Given the description of an element on the screen output the (x, y) to click on. 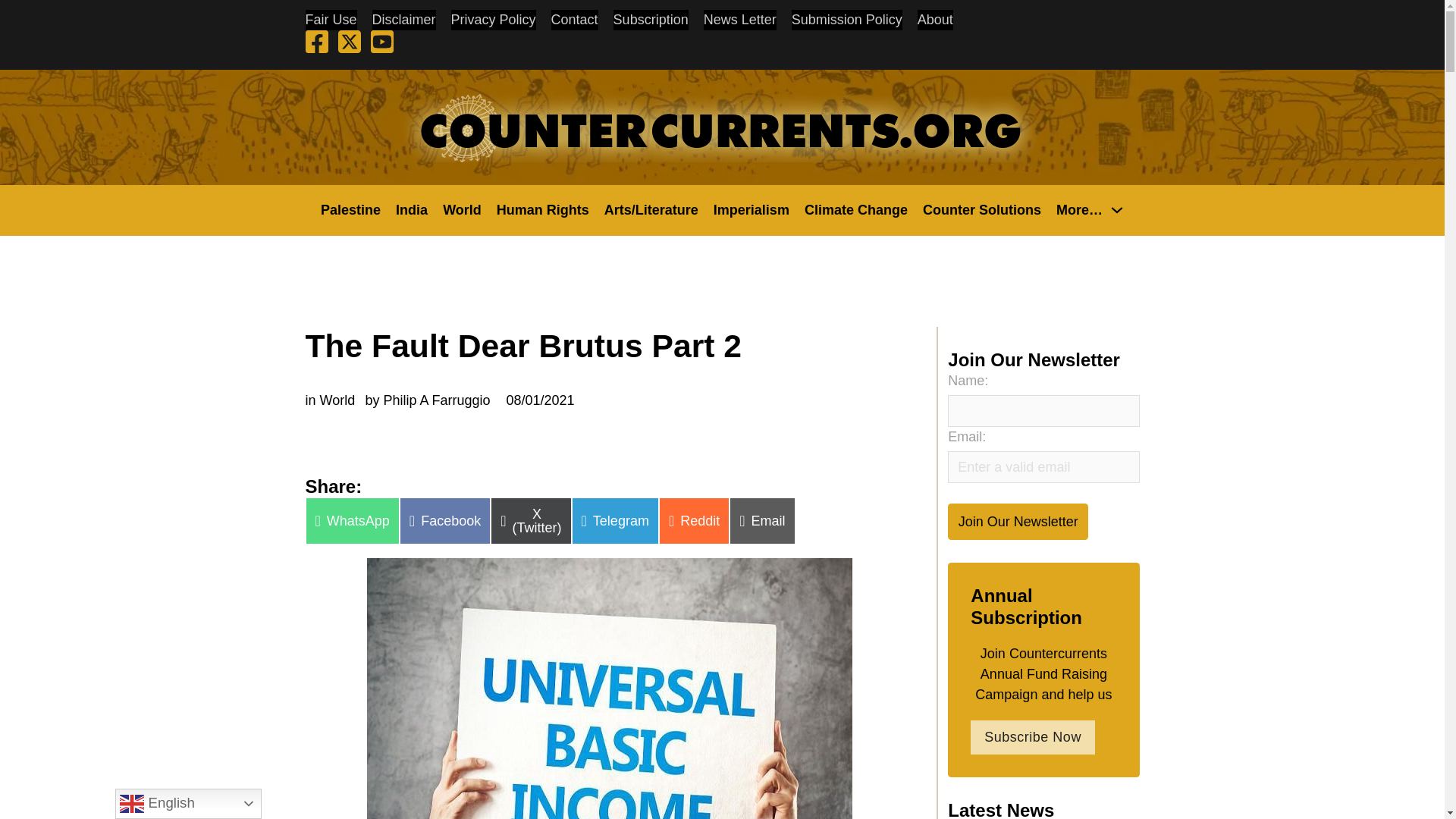
Human Rights (542, 209)
Subscription (650, 19)
Privacy Policy (493, 19)
Disclaimer (403, 19)
Contact (574, 19)
India (412, 209)
Join Our Newsletter (1017, 520)
Climate Change (856, 209)
Fair Use (330, 19)
Submission Policy (847, 19)
About (935, 19)
Imperialism (751, 209)
The Fault Dear Brutus Part 2 2 (608, 688)
News Letter (739, 19)
Counter Solutions (982, 209)
